Given the description of an element on the screen output the (x, y) to click on. 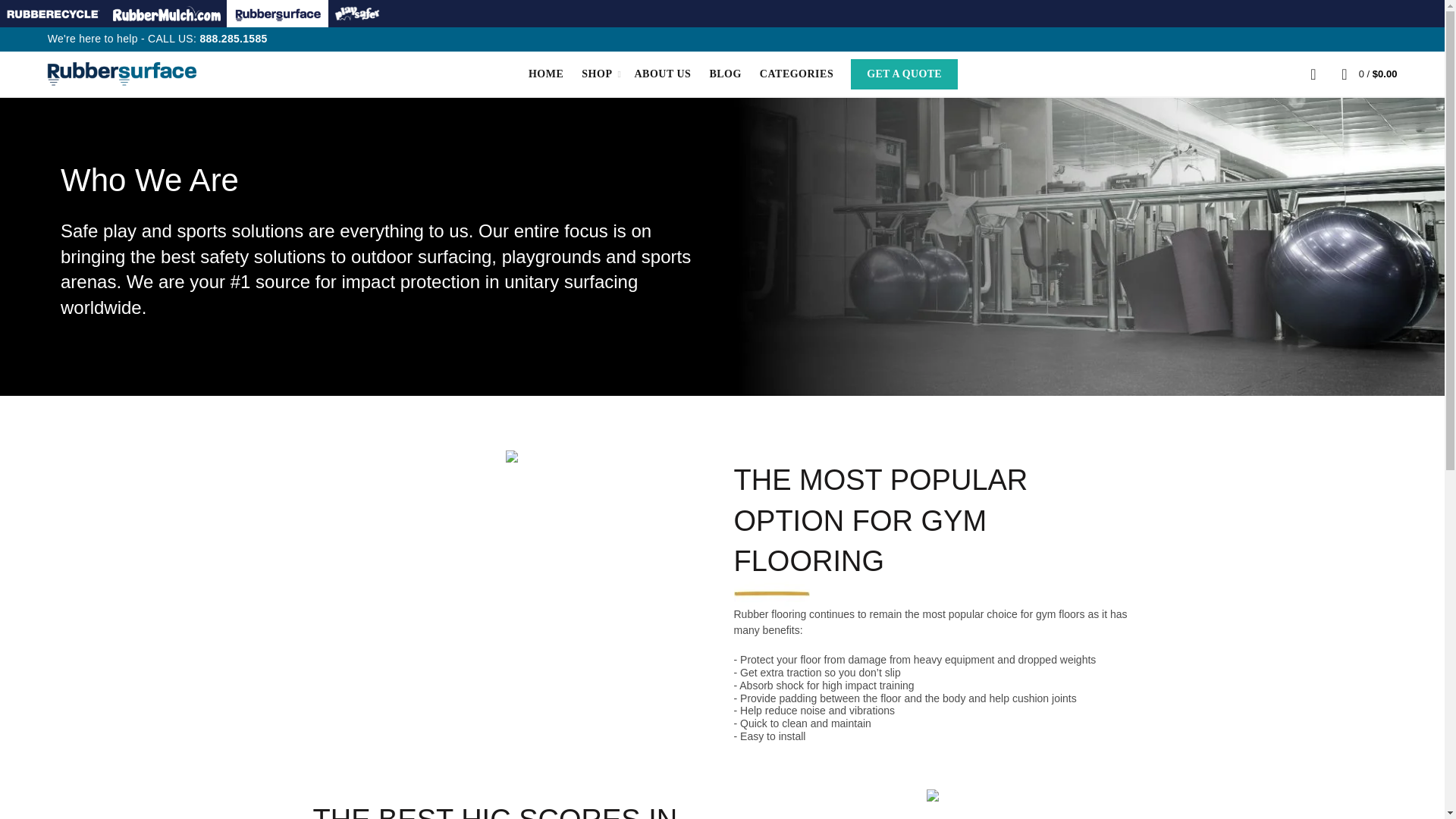
HOME (545, 74)
BLOG (724, 74)
888.285.1585 (232, 38)
ABOUT US (662, 74)
SHOP (596, 74)
GET A QUOTE (904, 73)
CATEGORIES (796, 74)
